Given the description of an element on the screen output the (x, y) to click on. 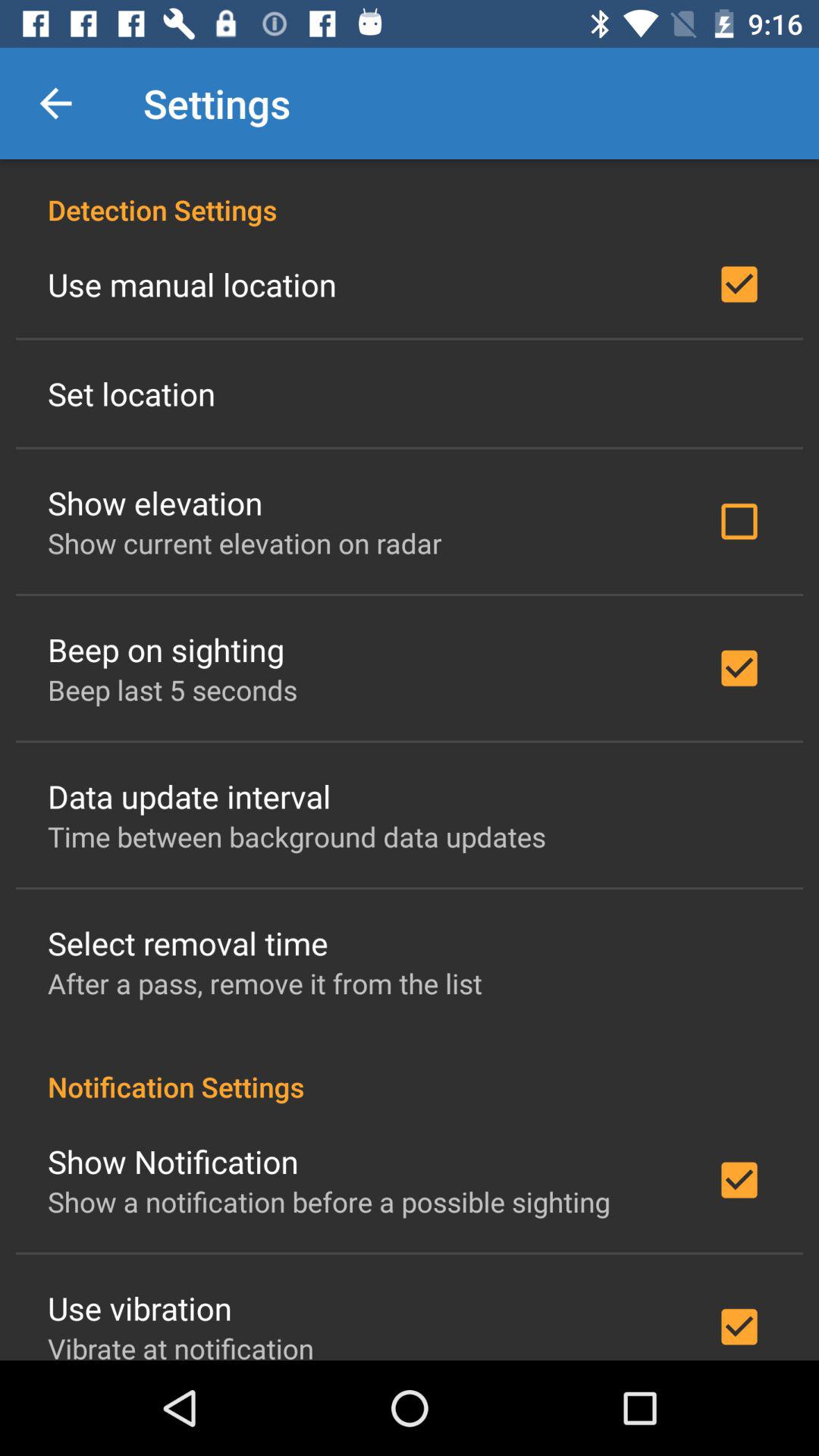
launch detection settings (409, 193)
